Given the description of an element on the screen output the (x, y) to click on. 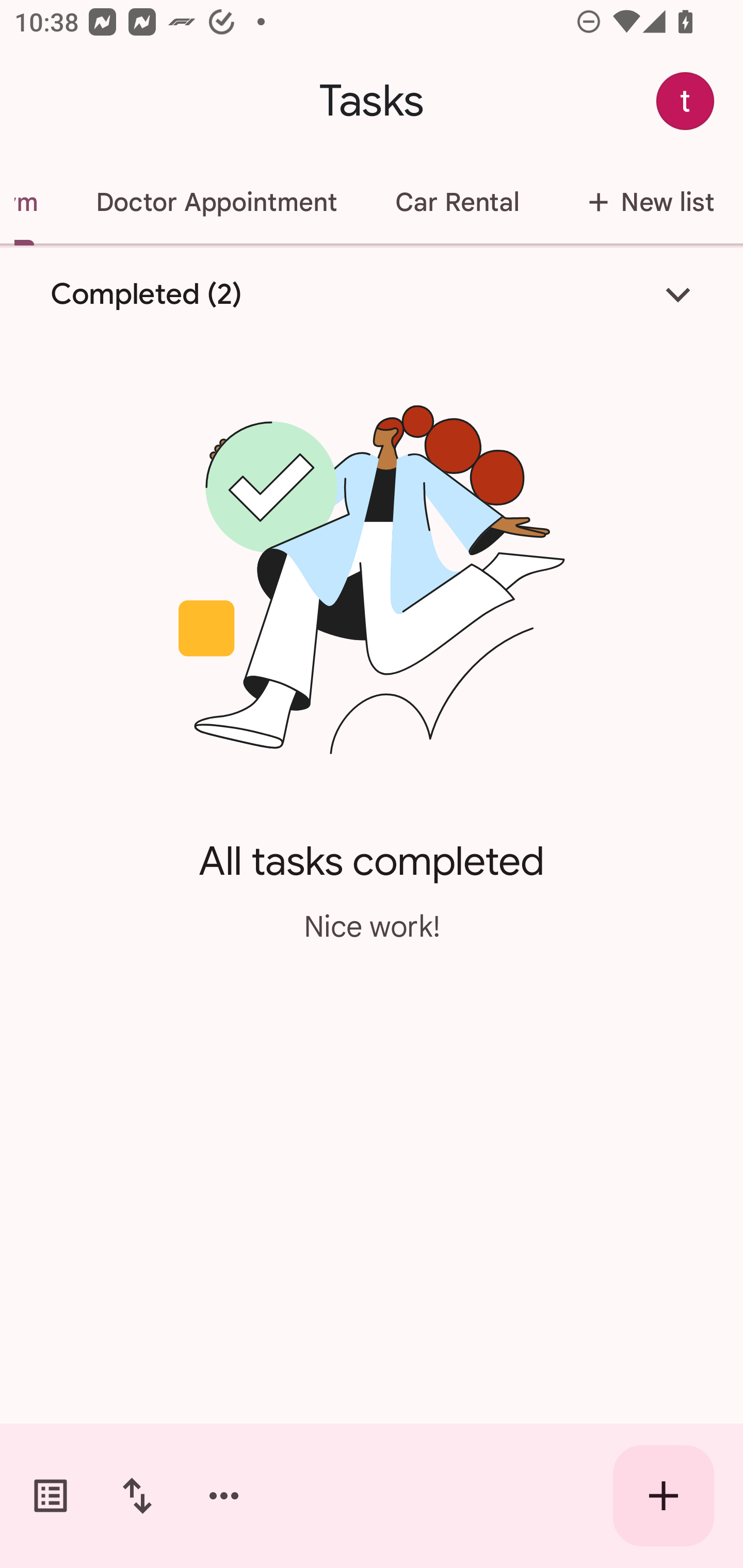
Doctor Appointment (215, 202)
Car Rental (456, 202)
New list (645, 202)
Completed (2) (371, 294)
Switch task lists (50, 1495)
Create new task (663, 1495)
Change sort order (136, 1495)
More options (223, 1495)
